Given the description of an element on the screen output the (x, y) to click on. 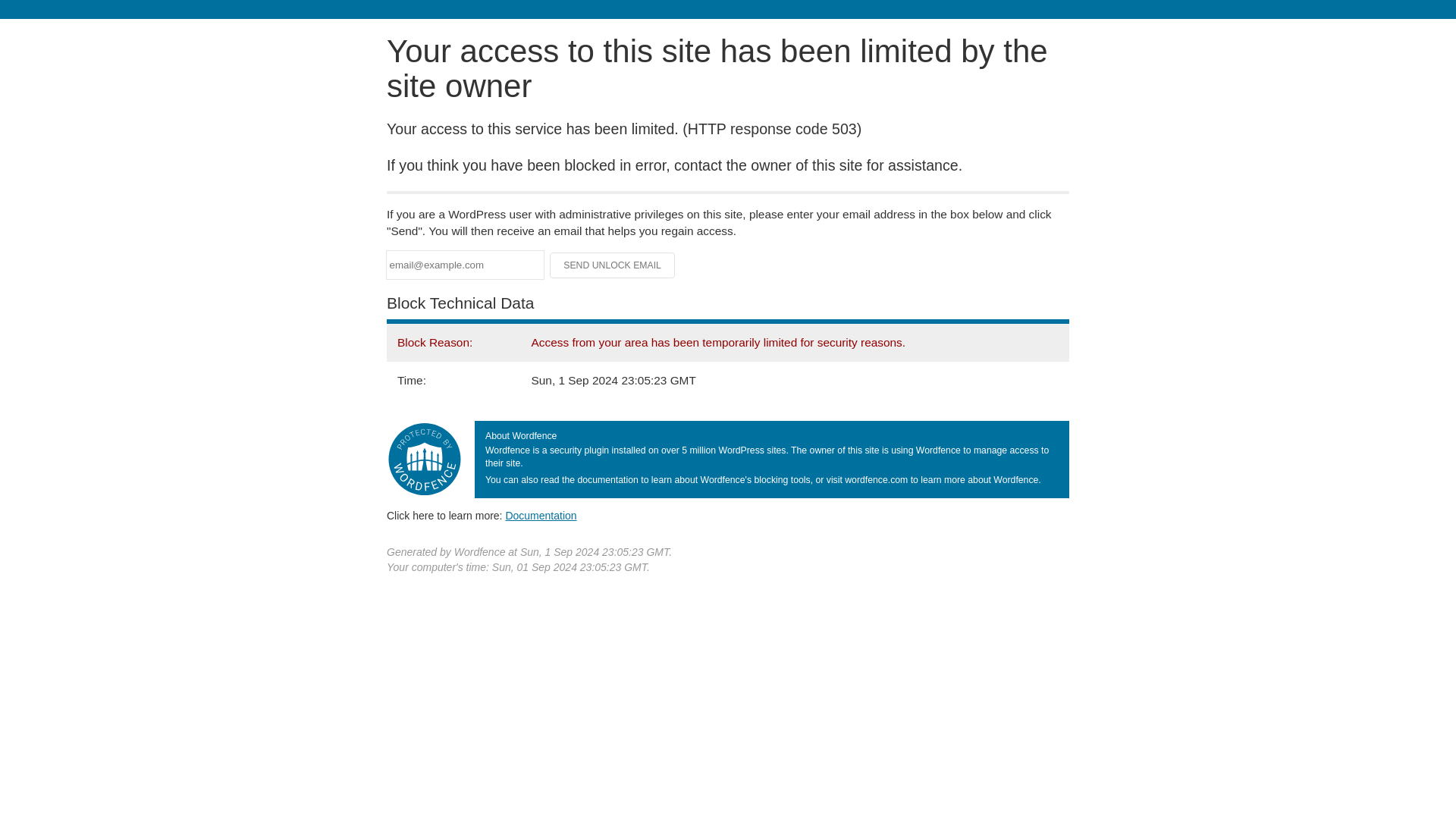
Send Unlock Email (612, 265)
Send Unlock Email (612, 265)
Documentation (540, 515)
